Given the description of an element on the screen output the (x, y) to click on. 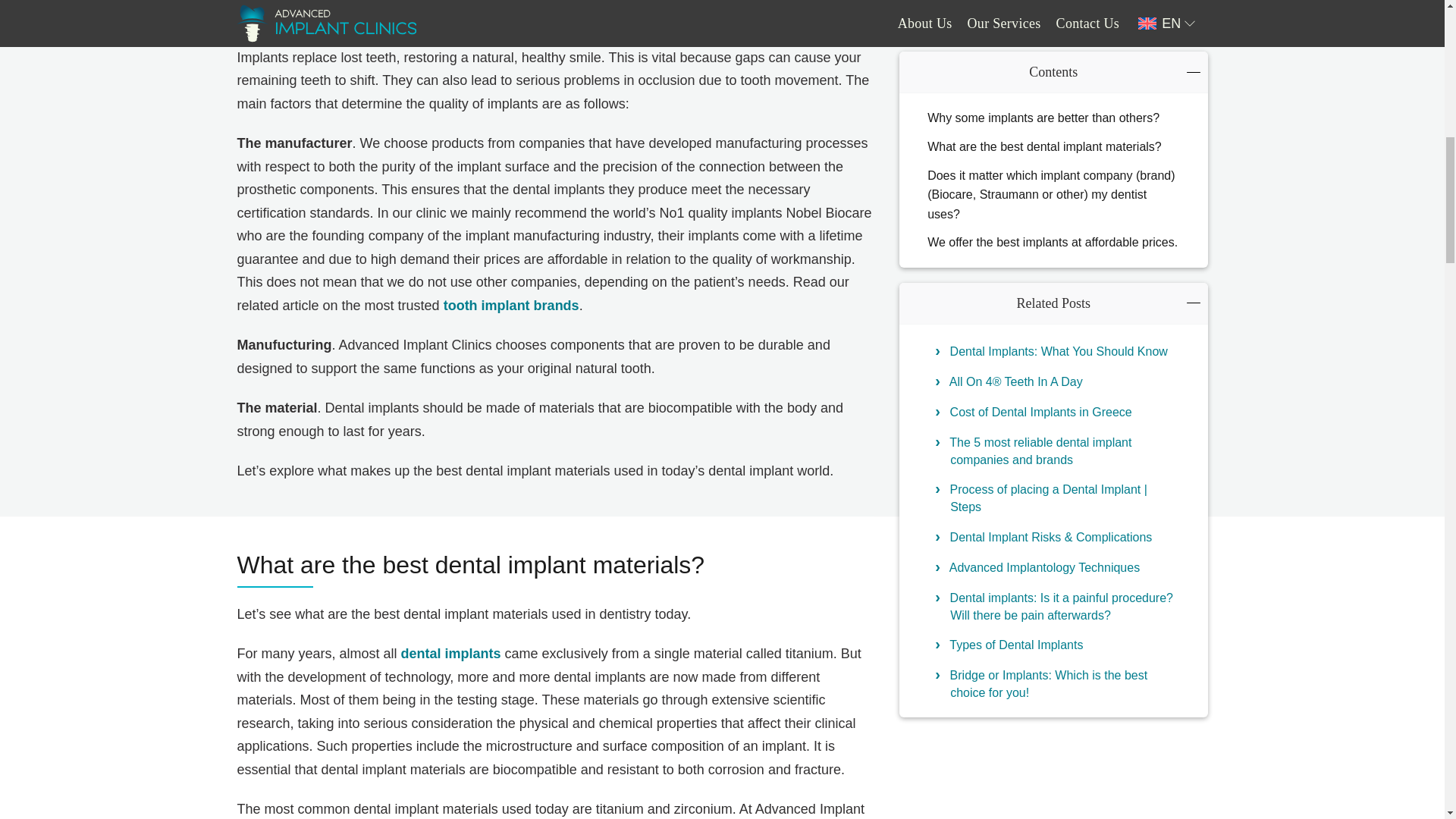
Bridge or Implants: Which is the best choice for you! (1064, 486)
We offer the best implants at affordable prices. (1053, 46)
Advanced Implantology Techniques (1064, 370)
The 5 most reliable dental implant companies and brands (1064, 253)
Types of Dental Implants (1064, 447)
Dental Implants: What You Should Know (1064, 154)
Cost of Dental Implants in Greece (1064, 215)
